Given the description of an element on the screen output the (x, y) to click on. 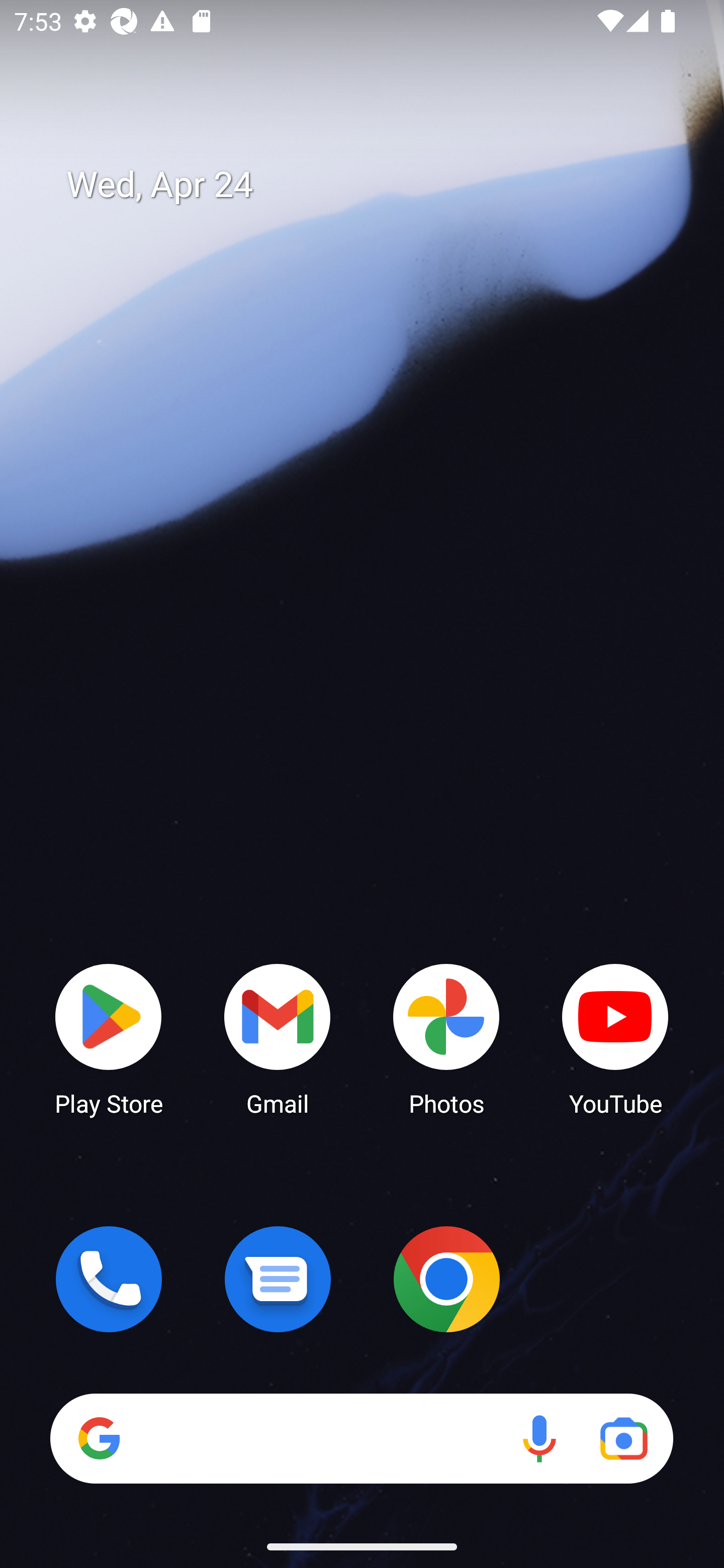
Wed, Apr 24 (375, 184)
Play Store (108, 1038)
Gmail (277, 1038)
Photos (445, 1038)
YouTube (615, 1038)
Phone (108, 1279)
Messages (277, 1279)
Chrome (446, 1279)
Search Voice search Google Lens (361, 1438)
Voice search (539, 1438)
Google Lens (623, 1438)
